Given the description of an element on the screen output the (x, y) to click on. 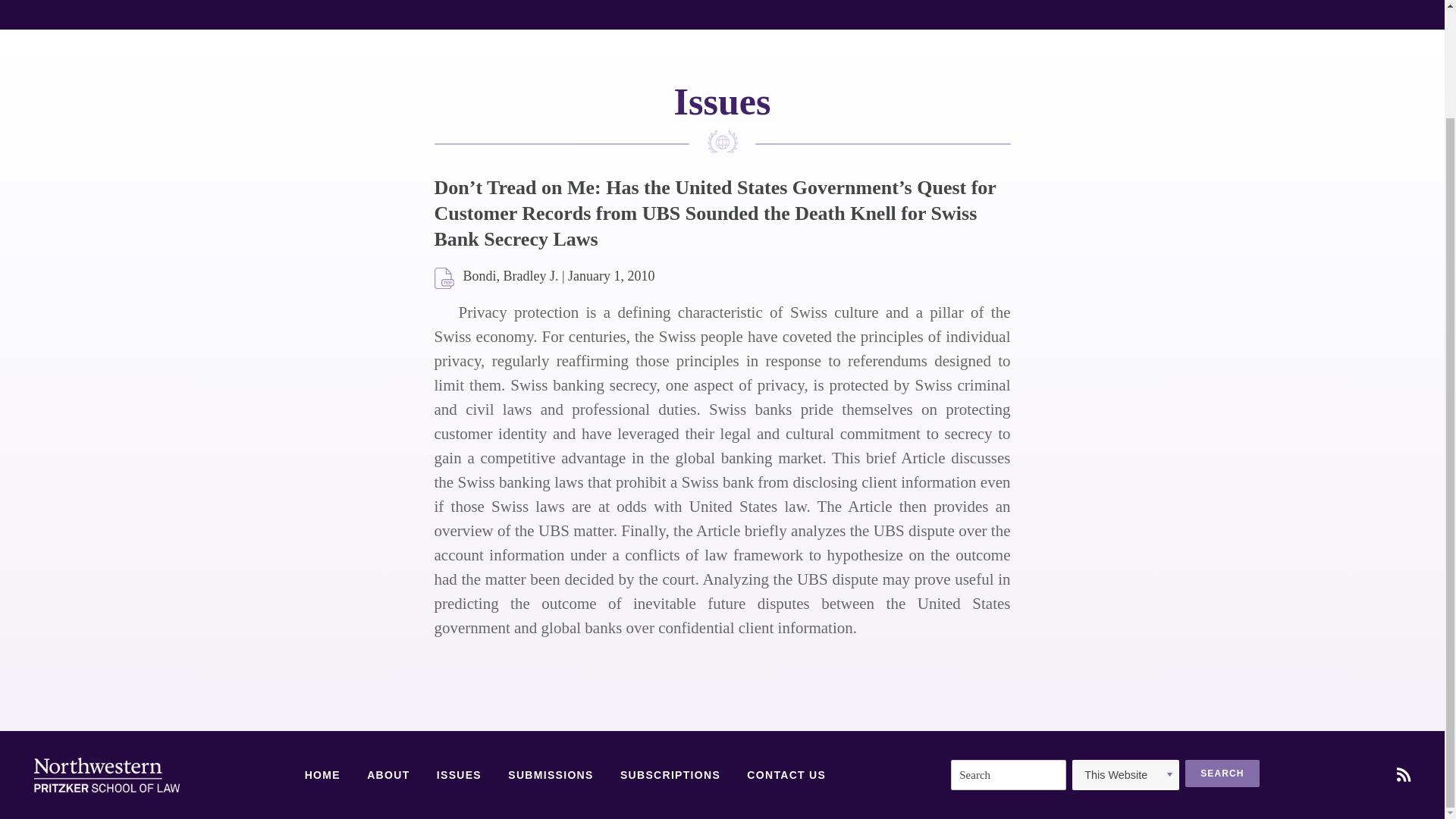
ABOUT (387, 775)
SUBMISSIONS (550, 775)
This Website (1125, 775)
HOME (322, 775)
CONTACT US (785, 775)
SUBSCRIPTIONS (670, 775)
Northwestern Pritzker School of Law (106, 774)
Search (1222, 773)
Search (1222, 773)
ISSUES (458, 775)
